Given the description of an element on the screen output the (x, y) to click on. 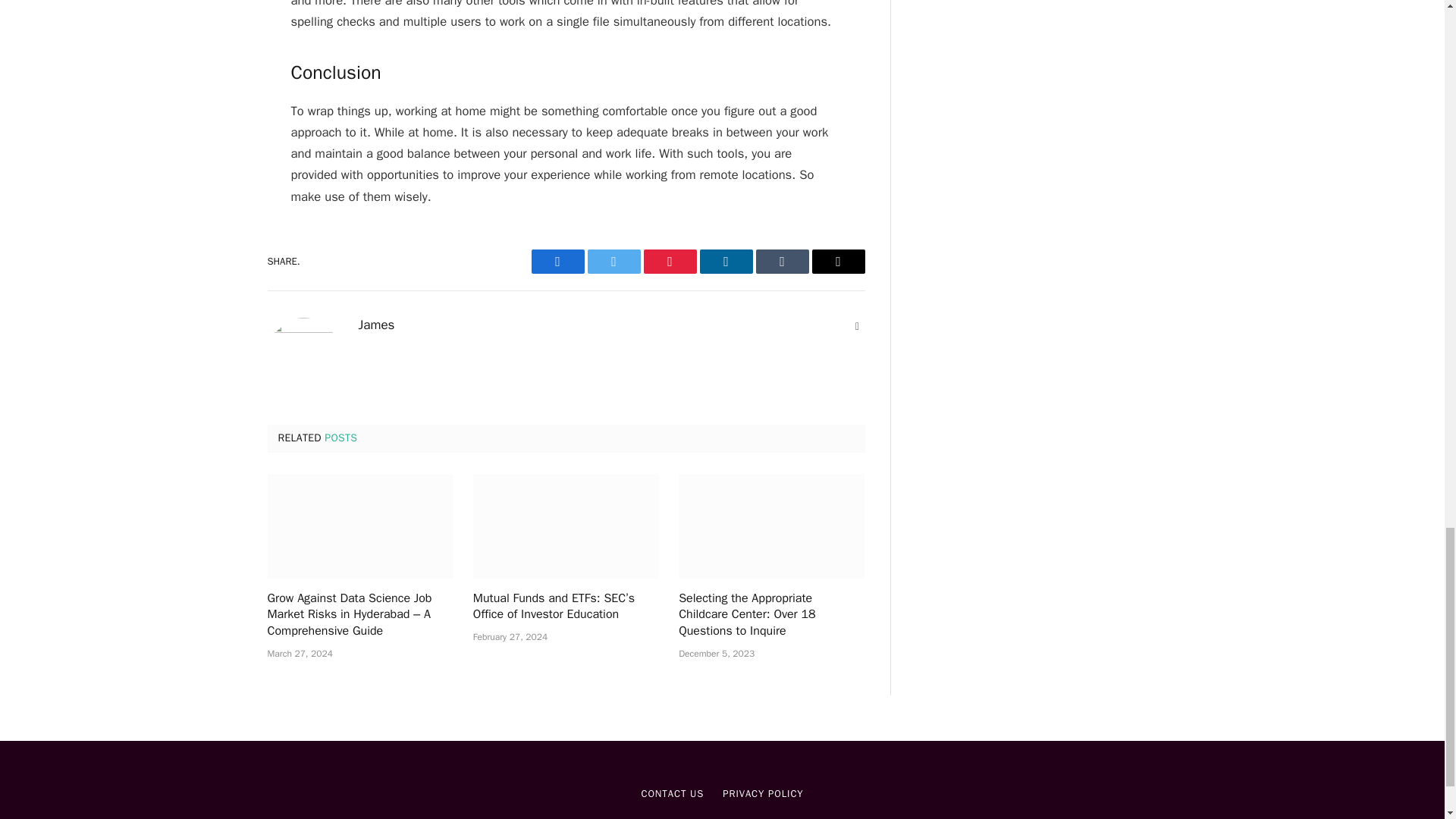
Facebook (557, 261)
Twitter (613, 261)
